Given the description of an element on the screen output the (x, y) to click on. 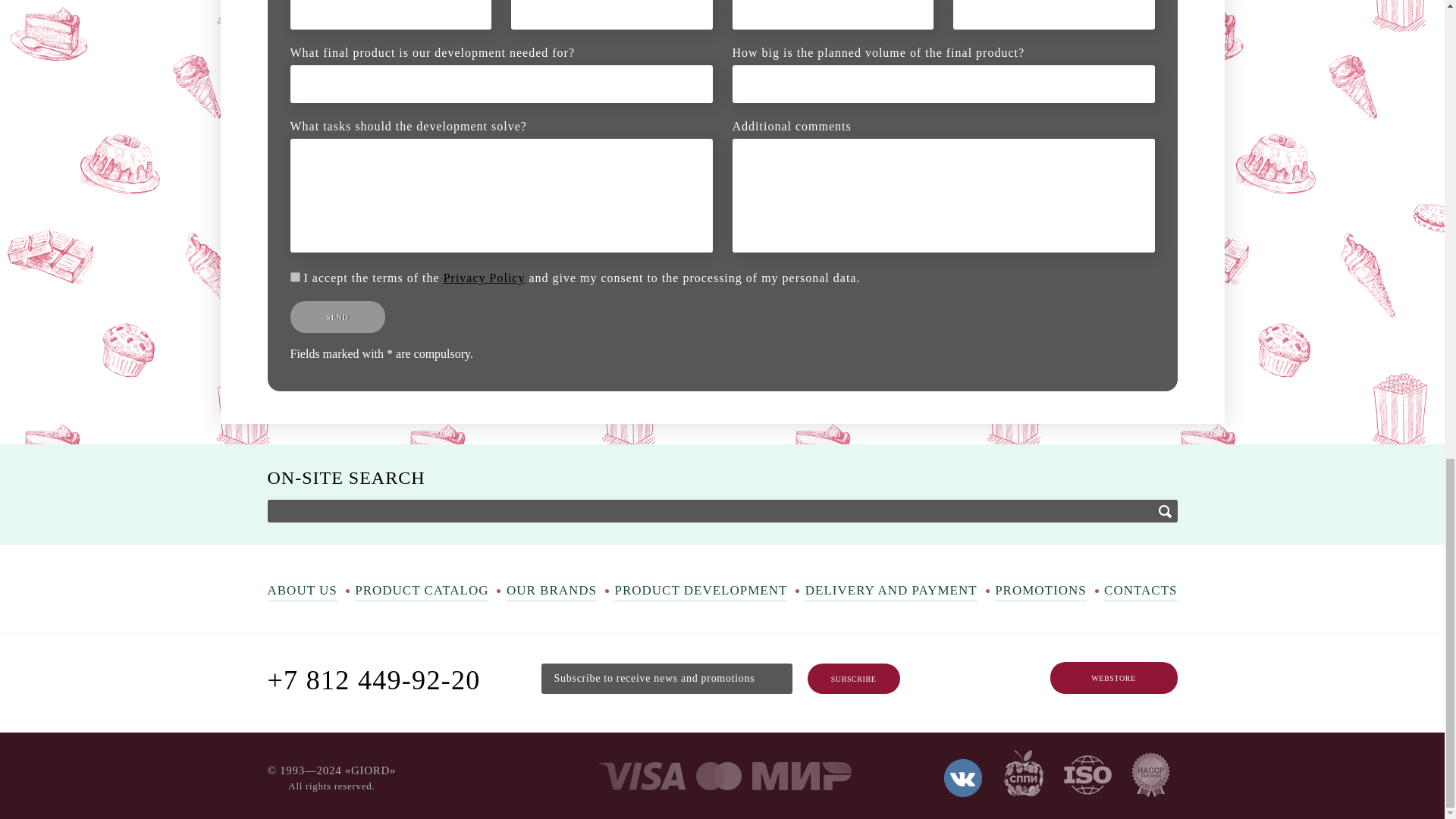
PRODUCT CATALOG (421, 592)
DELIVERY AND PAYMENT (890, 592)
on (294, 276)
SEND (336, 316)
CONTACTS (1139, 592)
PROMOTIONS (1040, 592)
ABOUT US (301, 592)
Privacy Policy (484, 277)
PRODUCT DEVELOPMENT (700, 592)
OUR BRANDS (551, 592)
